Given the description of an element on the screen output the (x, y) to click on. 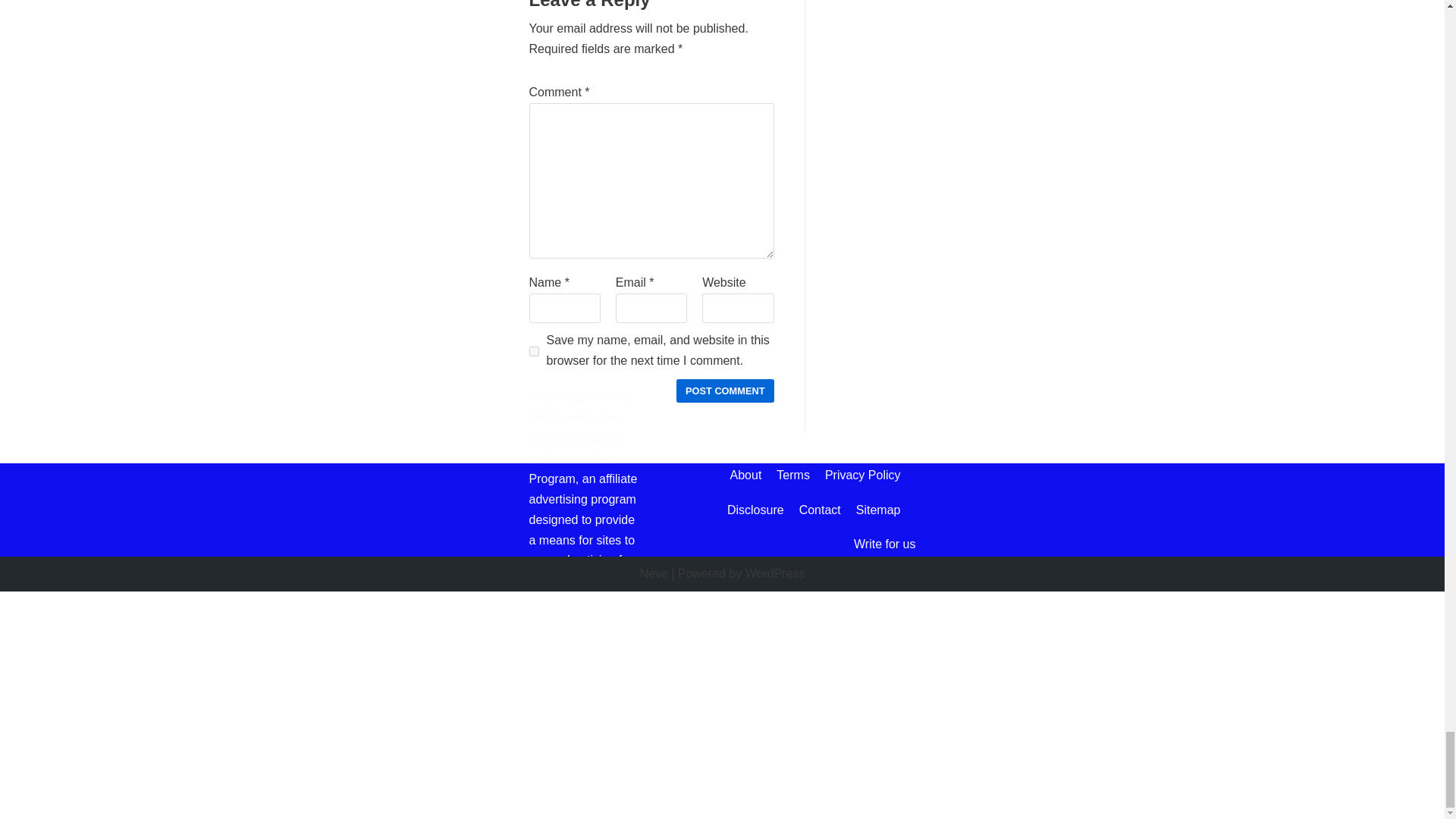
About (745, 475)
Post Comment (725, 390)
Terms (792, 475)
Disclosure (755, 510)
yes (533, 351)
Contact (820, 510)
Privacy Policy (863, 475)
Post Comment (725, 390)
